Given the description of an element on the screen output the (x, y) to click on. 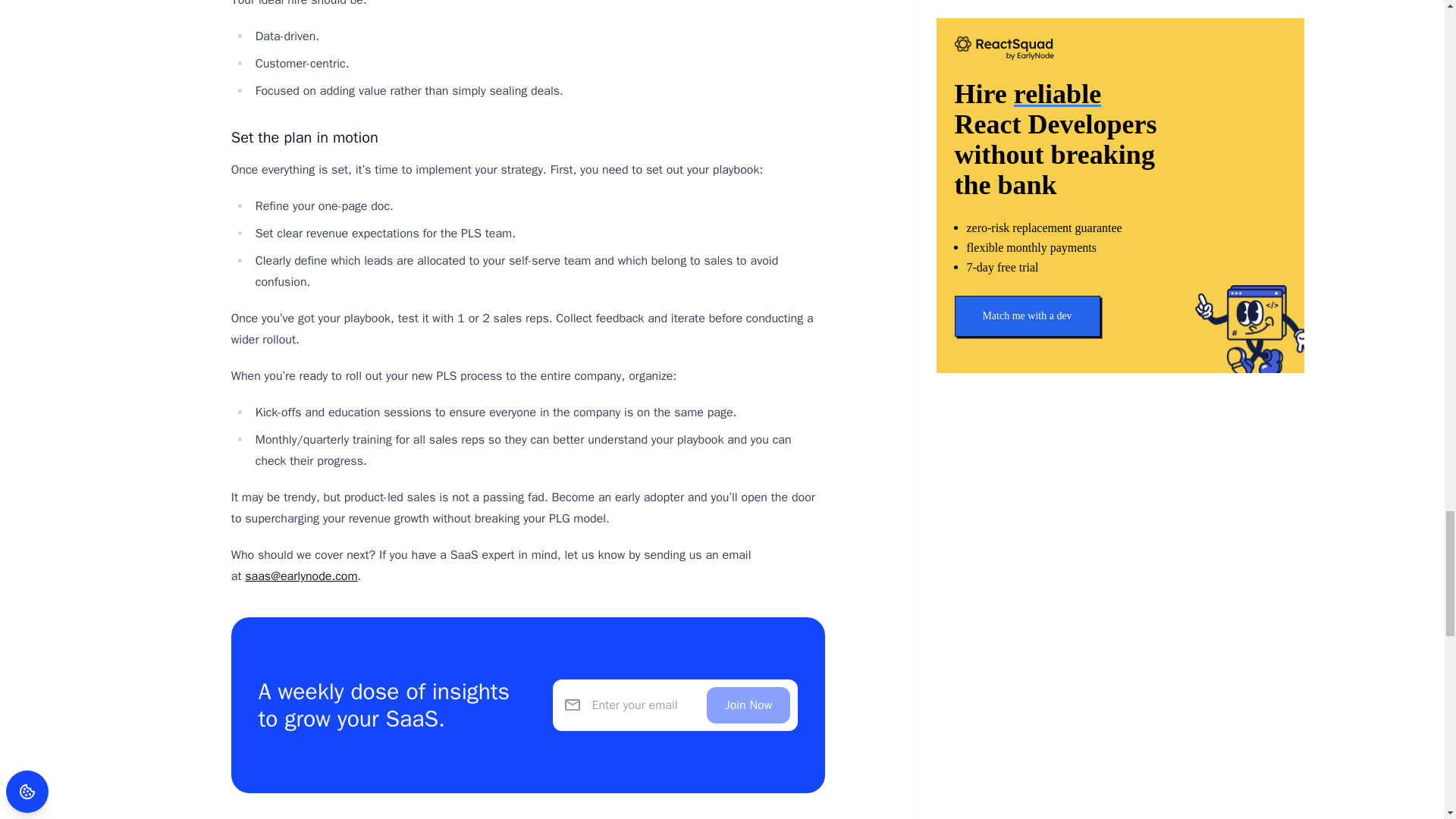
Join Now (748, 705)
